Given the description of an element on the screen output the (x, y) to click on. 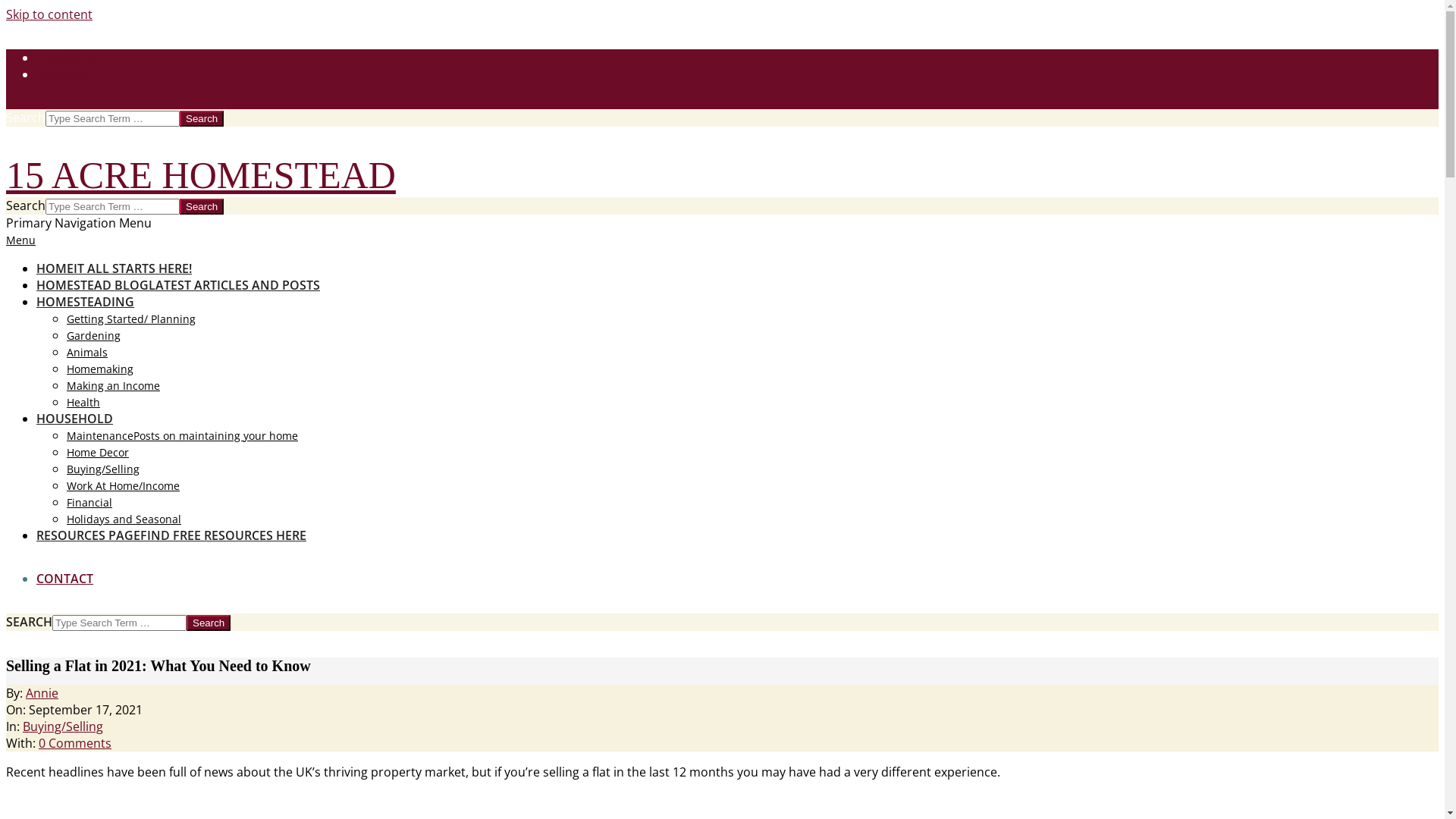
Annie Element type: text (41, 692)
Homemaking Element type: text (99, 368)
HOMEIT ALL STARTS HERE! Element type: text (113, 268)
Menu Element type: text (20, 239)
Search Element type: text (201, 206)
About Me Element type: text (63, 73)
Making an Income Element type: text (113, 385)
HOMESTEAD BLOGLATEST ARTICLES AND POSTS Element type: text (178, 284)
HOMESTEADING Element type: text (85, 301)
Skip to content Element type: text (49, 14)
Newsletter Element type: text (67, 57)
Buying/Selling Element type: text (102, 468)
Holidays and Seasonal Element type: text (123, 518)
Financial Element type: text (89, 502)
Health Element type: text (83, 402)
Animals Element type: text (86, 352)
Gardening Element type: text (93, 335)
HOUSEHOLD Element type: text (74, 418)
Getting Started/ Planning Element type: text (130, 318)
Work At Home/Income Element type: text (122, 485)
15 ACRE HOMESTEAD Element type: text (200, 174)
MaintenancePosts on maintaining your home Element type: text (182, 435)
RESOURCES PAGEFIND FREE RESOURCES HERE Element type: text (171, 535)
Home Decor Element type: text (97, 452)
Search Element type: text (208, 622)
0 Comments Element type: text (74, 742)
Search Element type: text (201, 118)
Buying/Selling Element type: text (62, 726)
CONTACT Element type: text (64, 578)
